Given the description of an element on the screen output the (x, y) to click on. 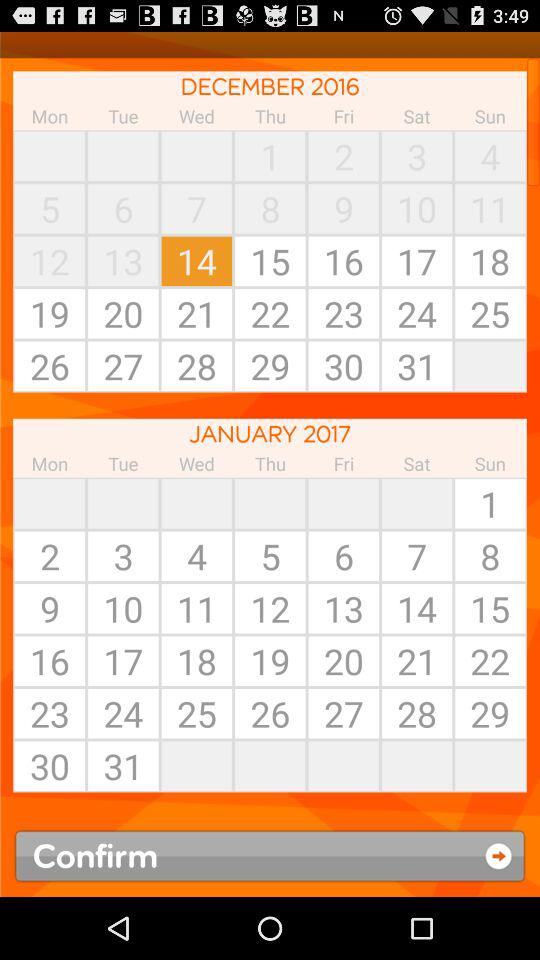
select icon next to 29 icon (417, 765)
